Given the description of an element on the screen output the (x, y) to click on. 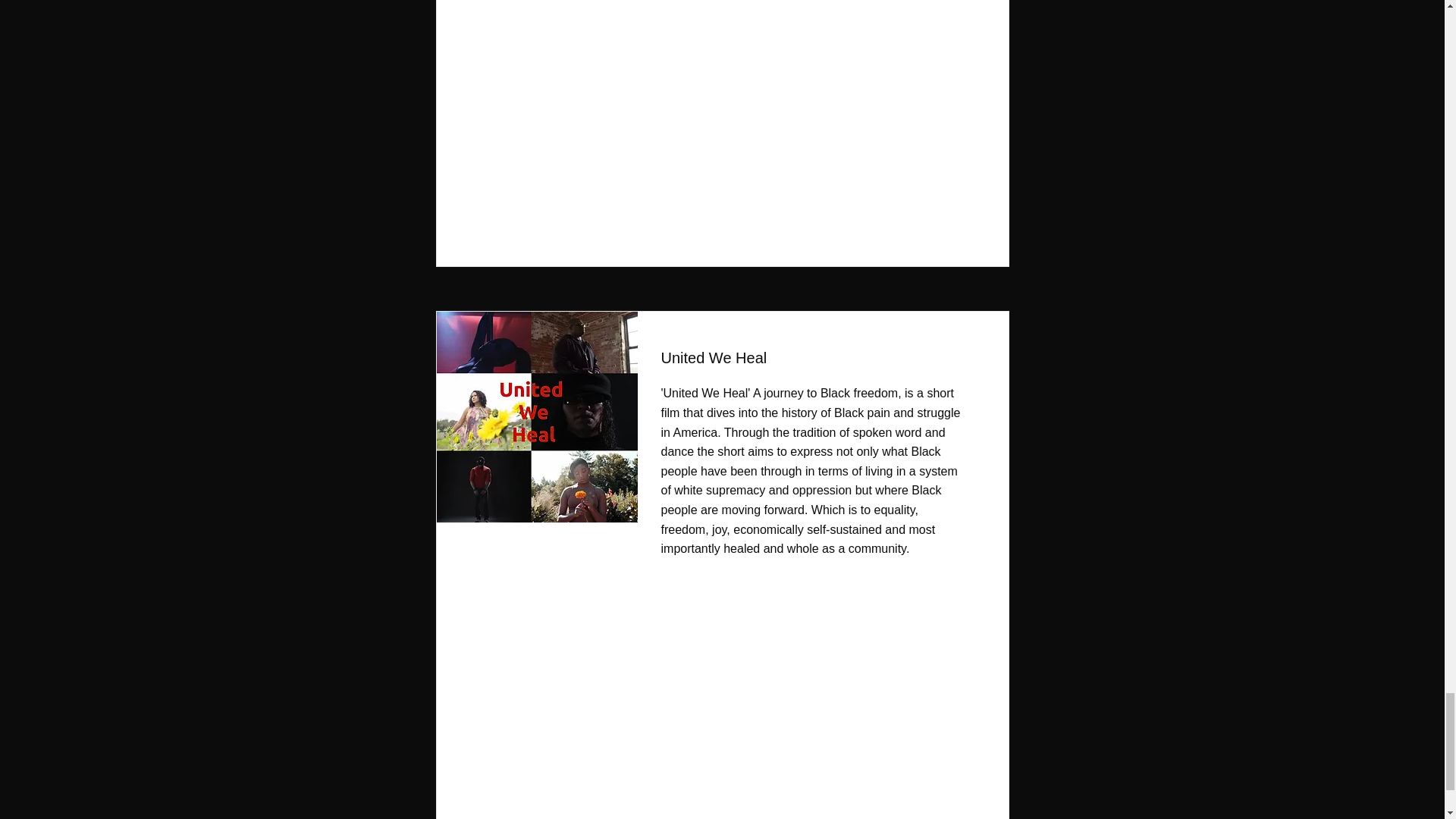
UWH.jpg (531, 417)
